Given the description of an element on the screen output the (x, y) to click on. 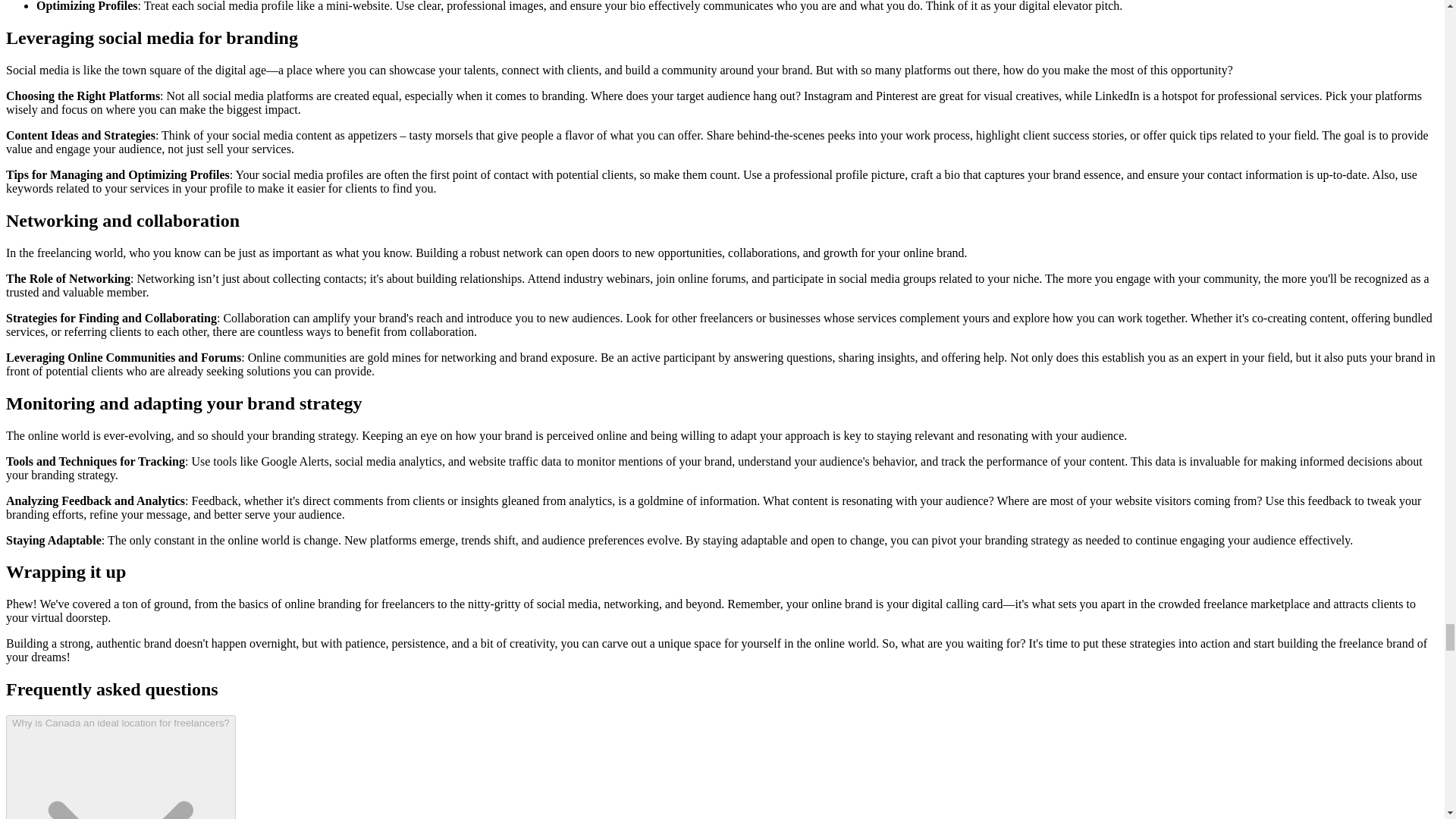
Why is Canada an ideal location for freelancers? (120, 766)
